Given the description of an element on the screen output the (x, y) to click on. 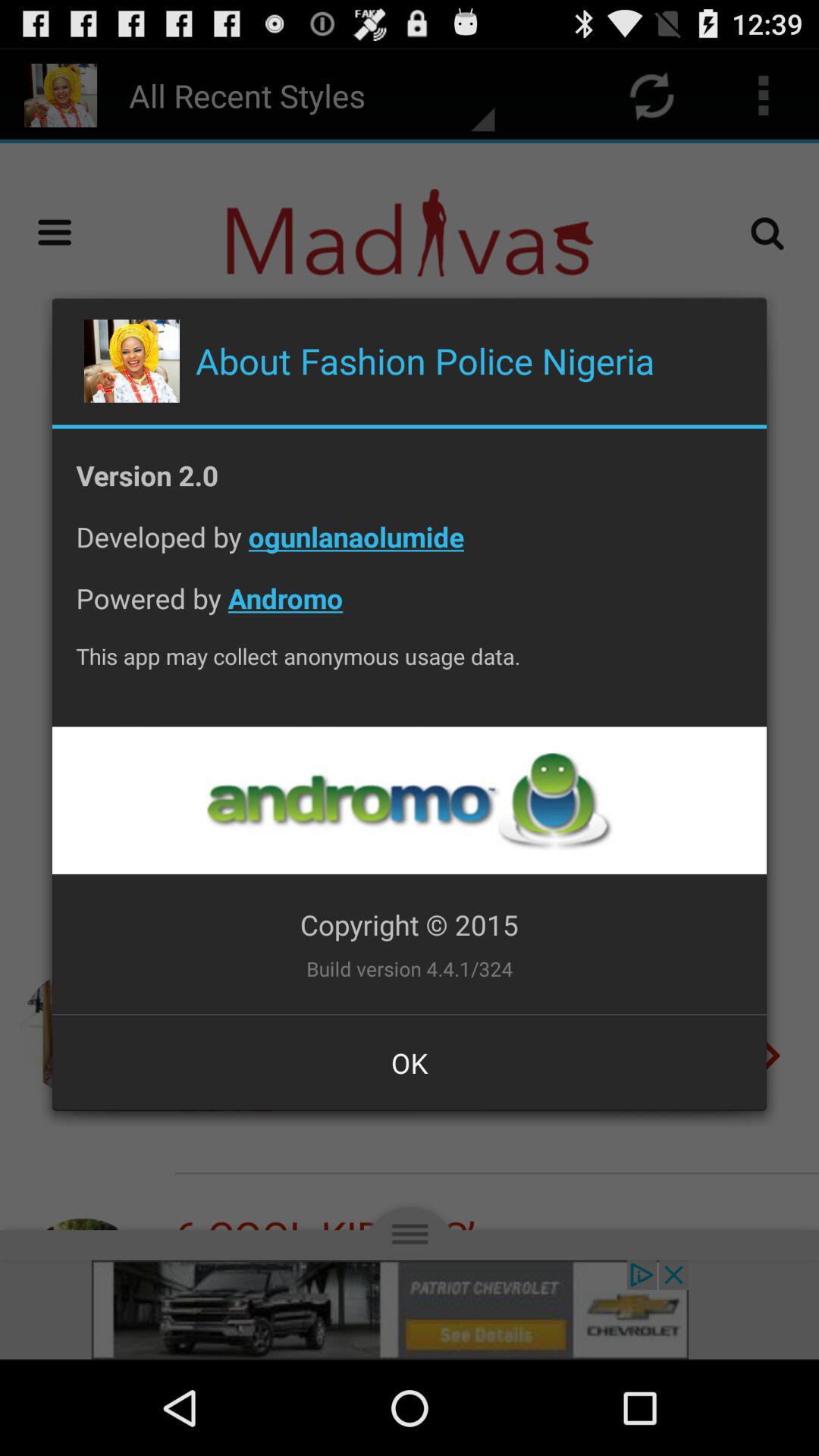
press powered by andromo app (409, 609)
